Given the description of an element on the screen output the (x, y) to click on. 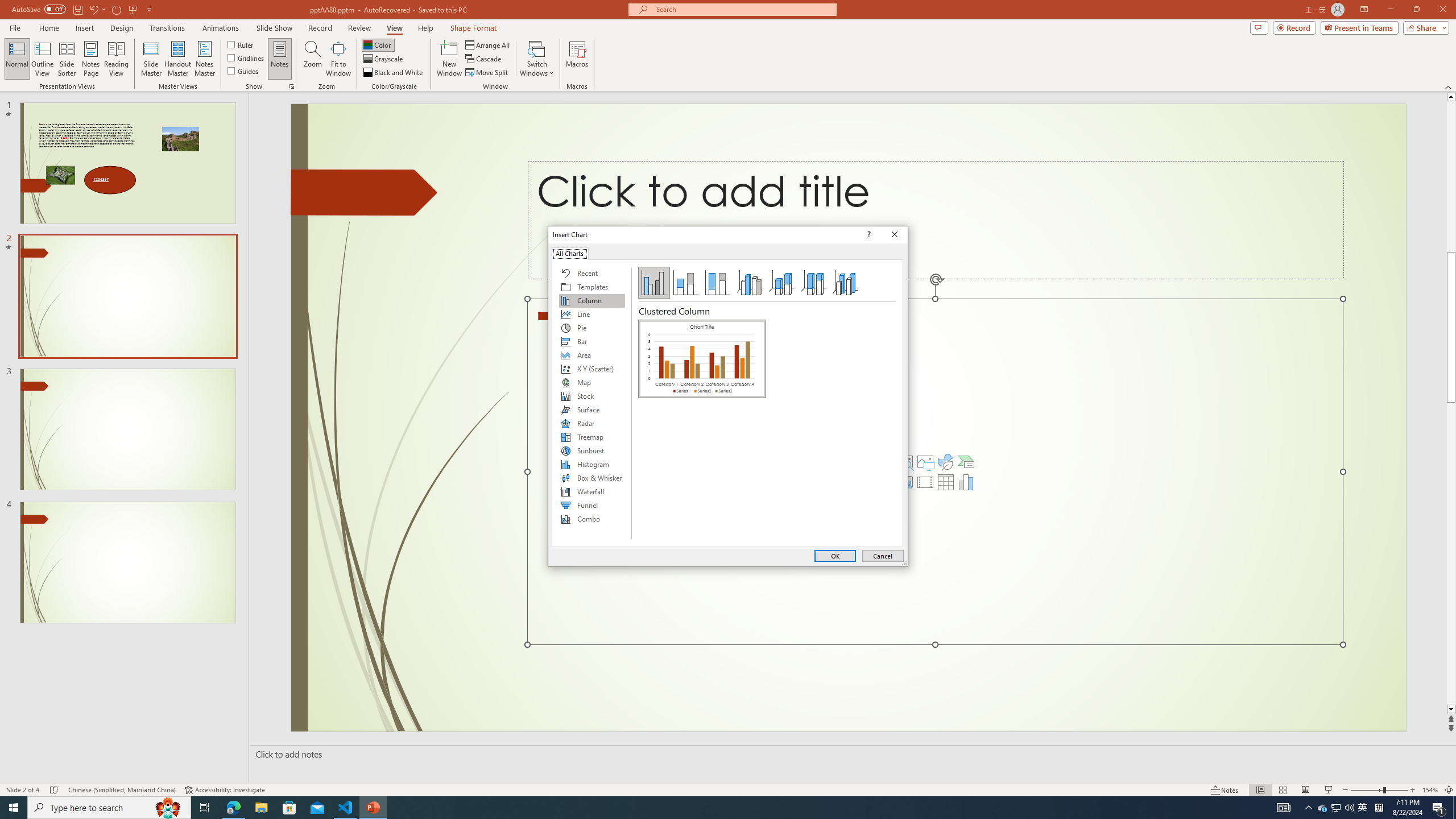
Ruler (241, 44)
Color (377, 44)
Waterfall (591, 491)
Grid Settings... (291, 85)
Area (591, 354)
Clustered Column (701, 358)
Surface (591, 409)
